Given the description of an element on the screen output the (x, y) to click on. 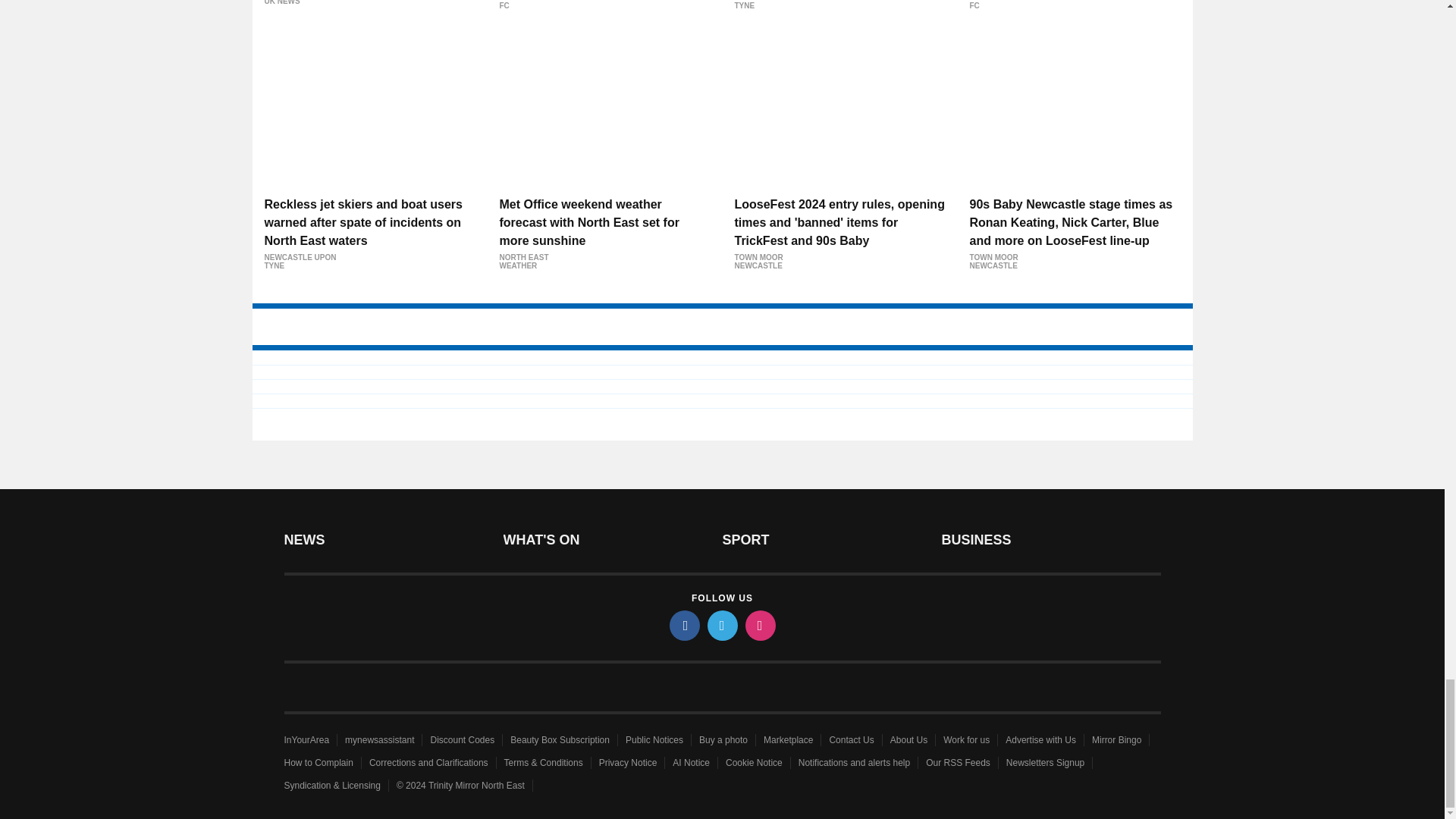
instagram (759, 625)
facebook (683, 625)
twitter (721, 625)
